Given the description of an element on the screen output the (x, y) to click on. 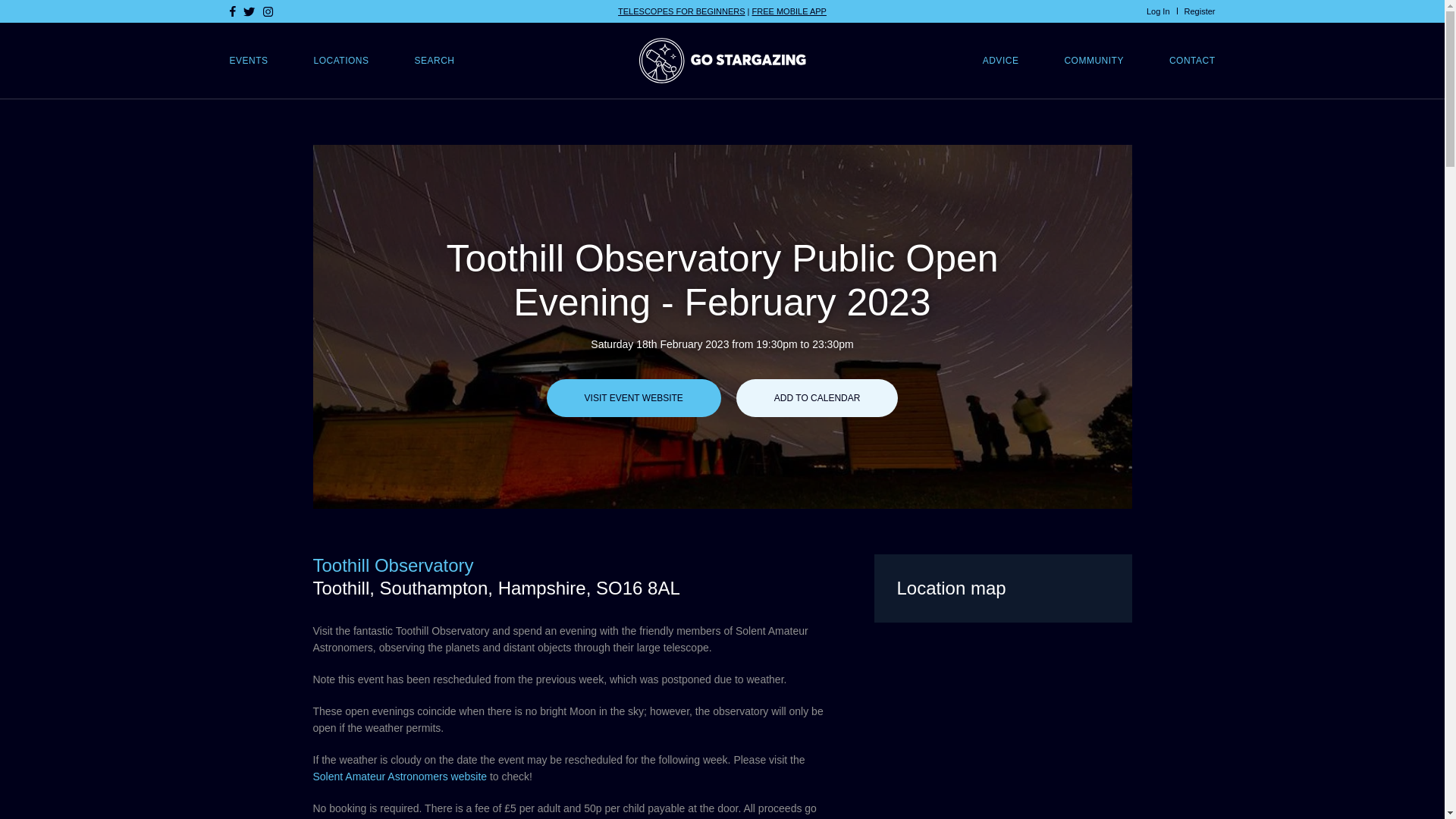
FREE MOBILE APP (789, 11)
TELESCOPES FOR BEGINNERS (680, 11)
Instagram (267, 10)
Register (1200, 10)
Twitter (248, 10)
Log In (1158, 10)
